Given the description of an element on the screen output the (x, y) to click on. 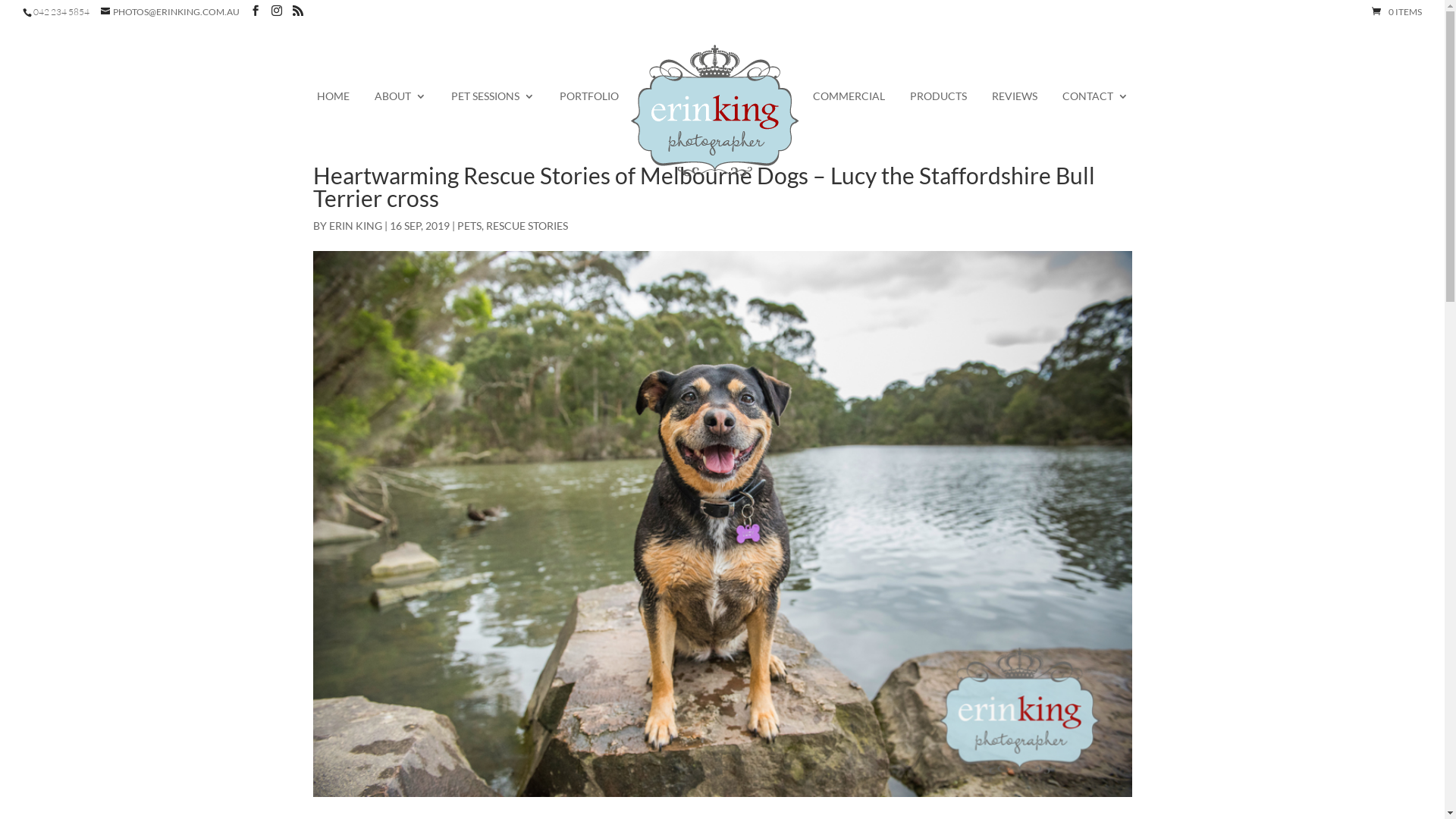
ERIN KING Element type: text (355, 225)
PETS Element type: text (468, 225)
REVIEWS Element type: text (1014, 105)
HOME Element type: text (332, 105)
ABOUT Element type: text (400, 105)
COMMERCIAL Element type: text (848, 105)
PRODUCTS Element type: text (938, 105)
PET SESSIONS Element type: text (491, 105)
PHOTOS@ERINKING.COM.AU Element type: text (169, 11)
PORTFOLIO Element type: text (588, 105)
CONTACT Element type: text (1094, 105)
RESCUE STORIES Element type: text (526, 225)
0 ITEMS Element type: text (1396, 11)
